Given the description of an element on the screen output the (x, y) to click on. 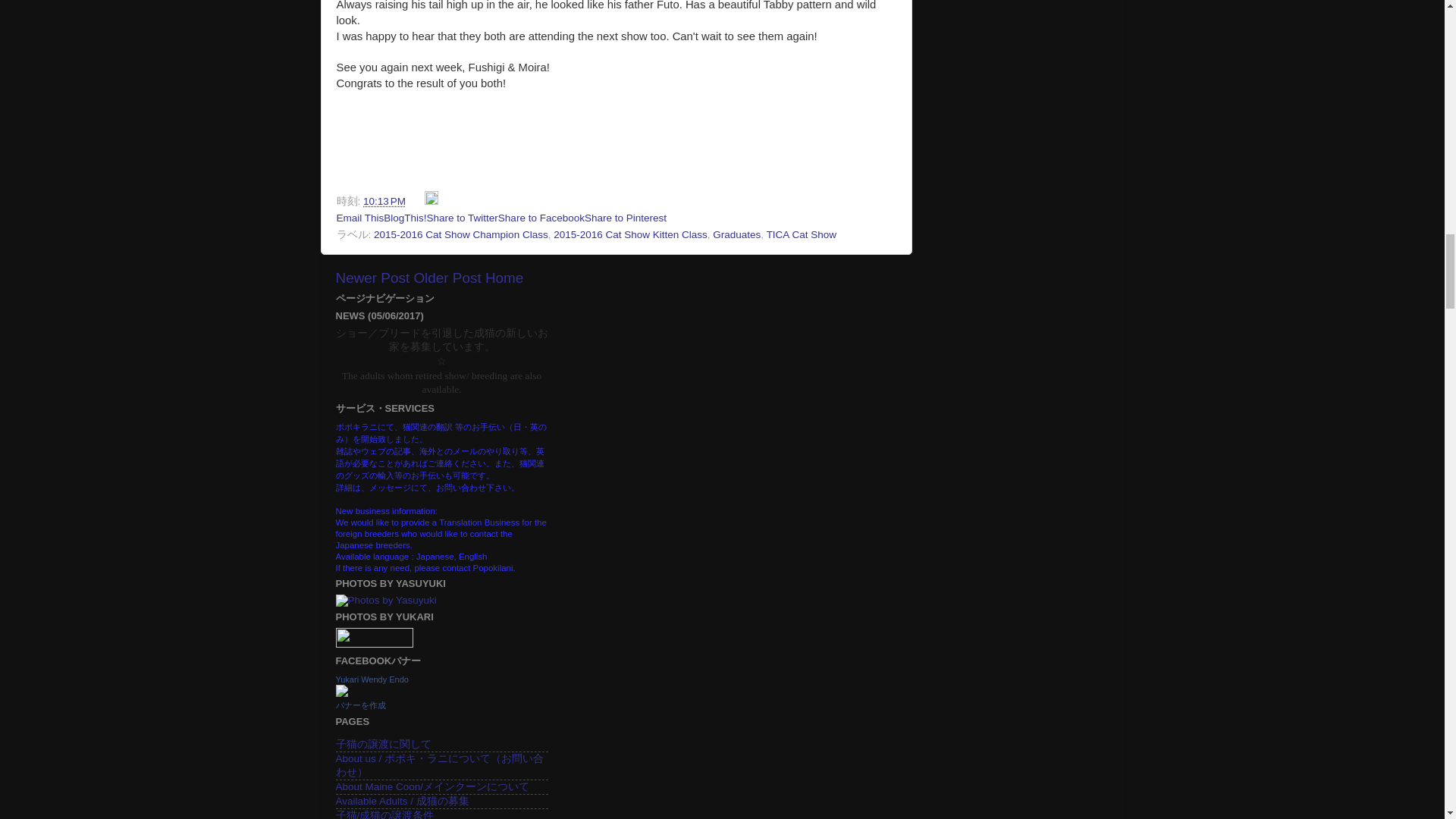
Yukari Wendy Endo (370, 678)
Share to Twitter (461, 217)
Newer Post (371, 277)
2015-2016 Cat Show Kitten Class (630, 234)
Email Post (417, 201)
Yukari Wendy Endo (340, 693)
Graduates (736, 234)
Share to Pinterest (625, 217)
BlogThis! (405, 217)
TICA Cat Show (801, 234)
BlogThis! (405, 217)
Newer Post (371, 277)
See my photos on Flickr! (373, 644)
Share to Facebook (541, 217)
Share to Twitter (461, 217)
